Given the description of an element on the screen output the (x, y) to click on. 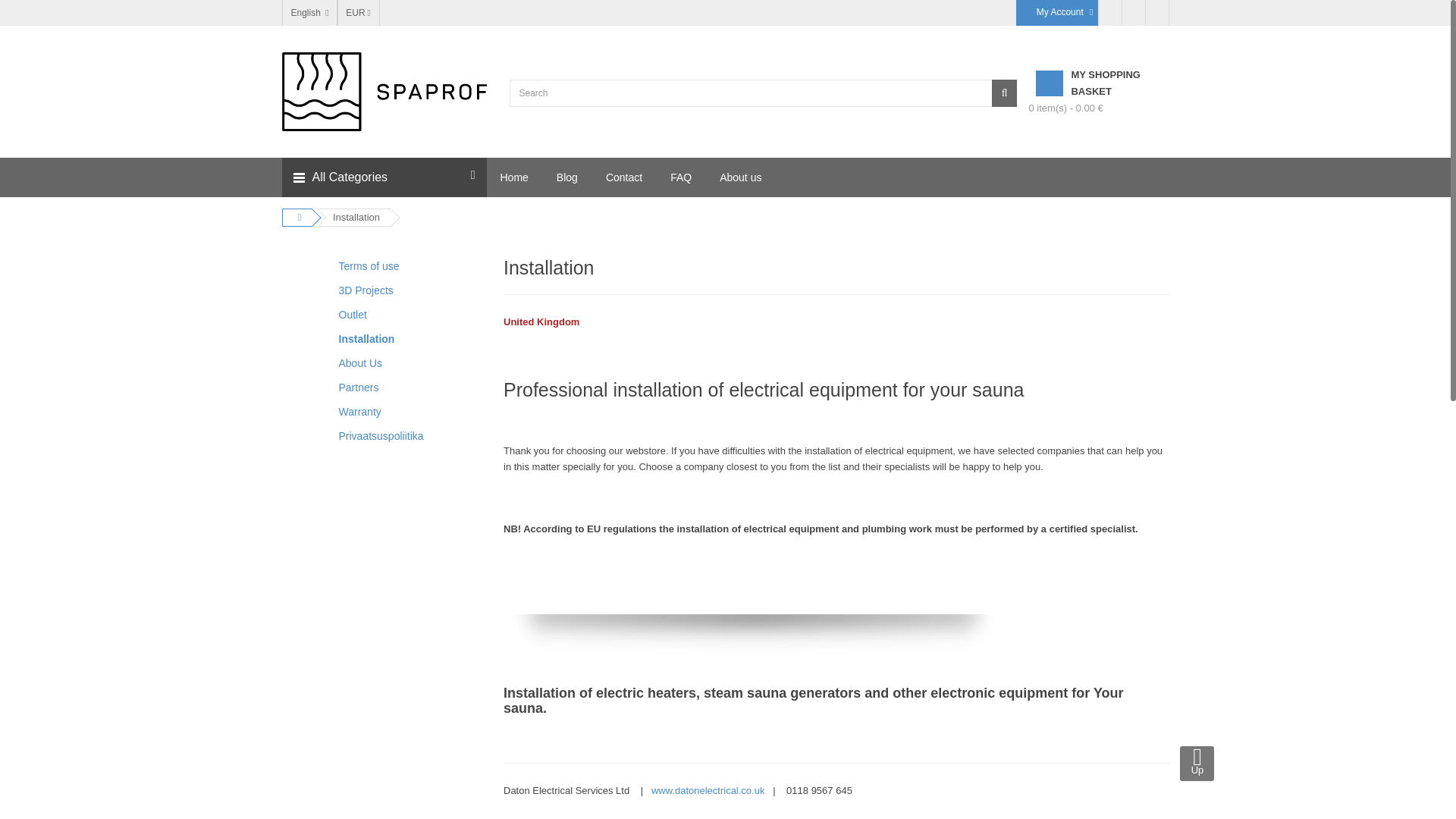
English (309, 12)
My Account (1057, 12)
My Account (1057, 12)
EUR (357, 12)
Your Store (384, 91)
